Given the description of an element on the screen output the (x, y) to click on. 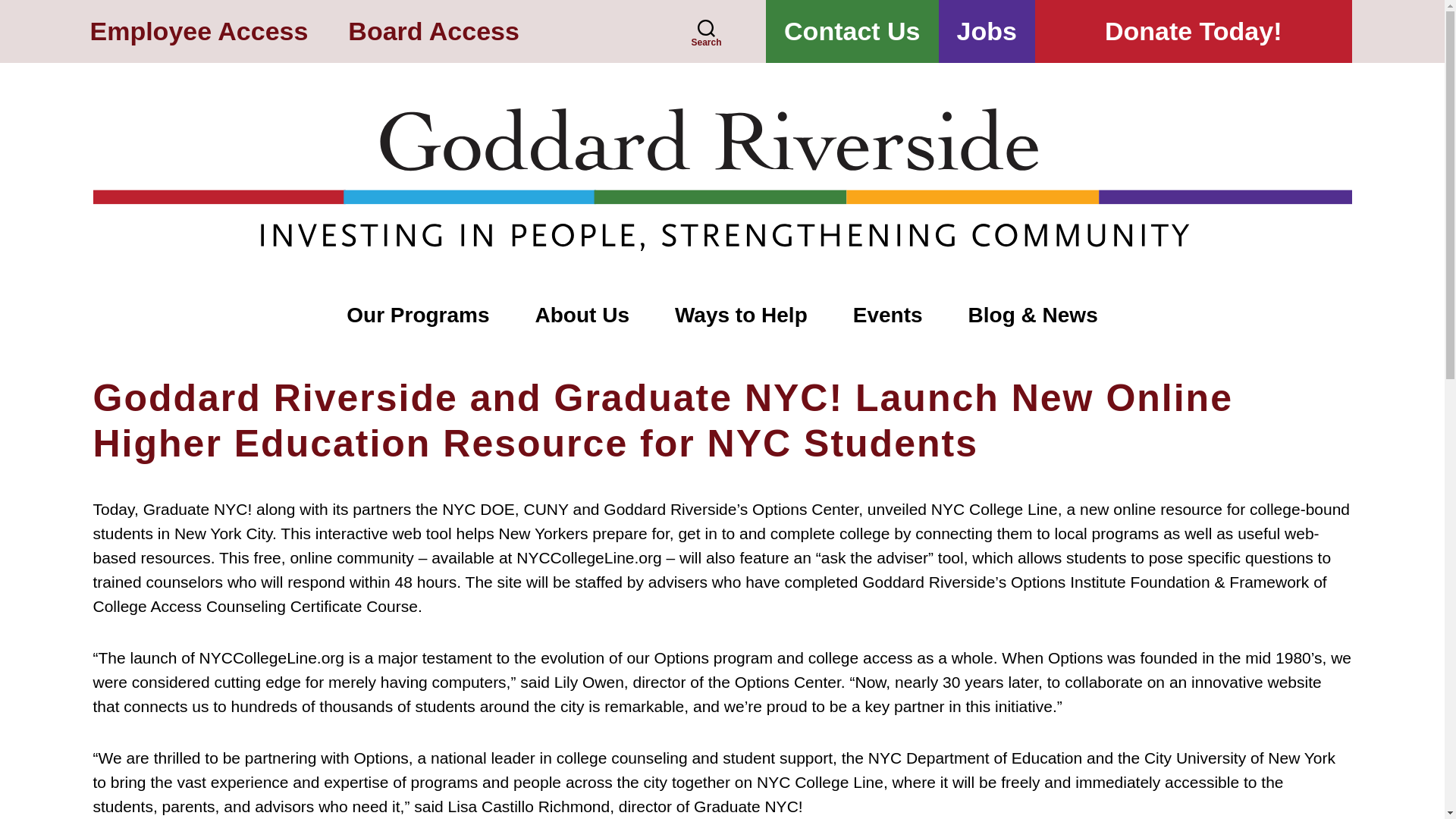
Employee Access (197, 31)
Board Access (433, 31)
Contact Us (851, 31)
Donate Today! (1193, 31)
Jobs (987, 31)
Our Programs (417, 316)
